Given the description of an element on the screen output the (x, y) to click on. 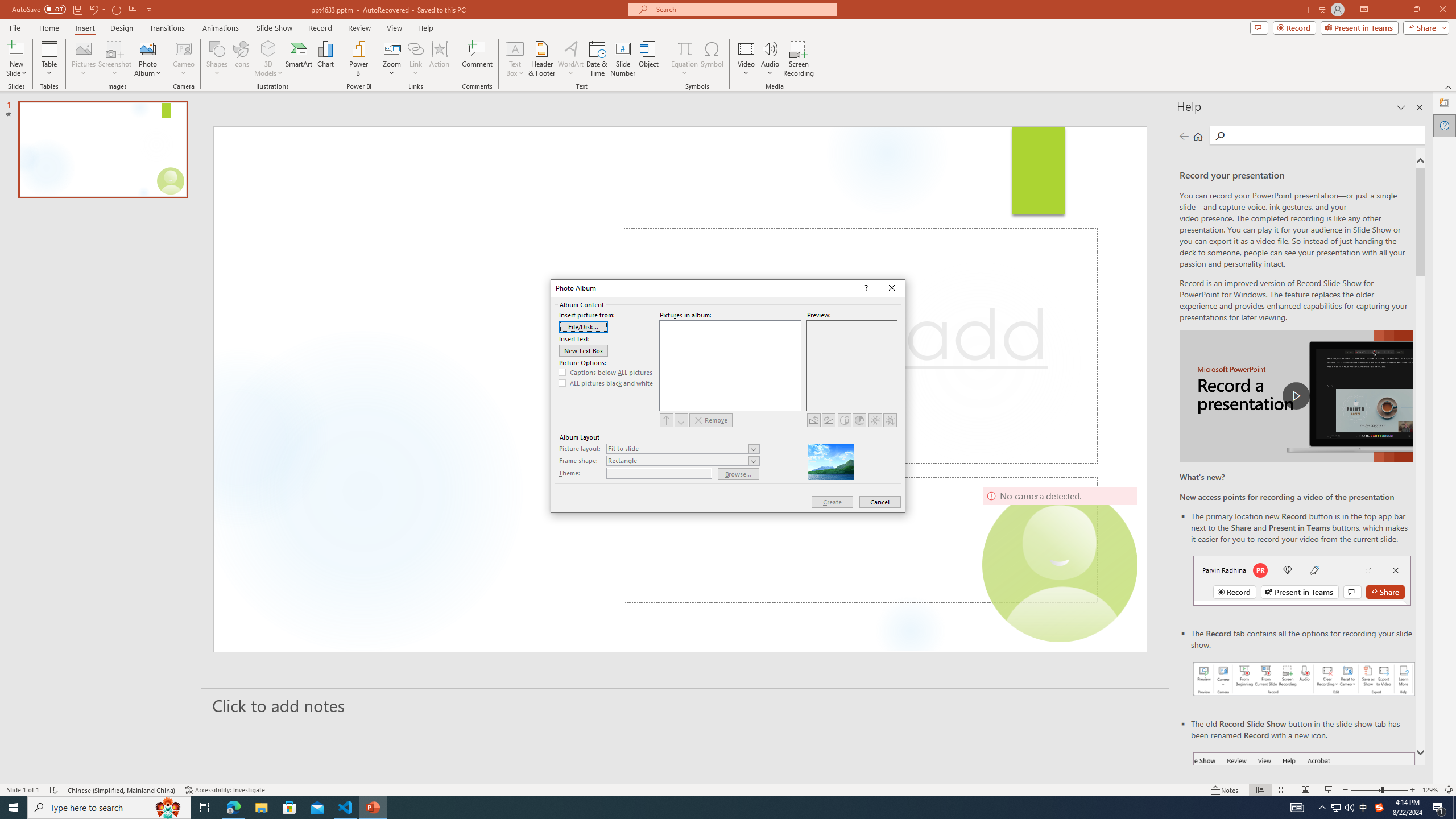
Q2790: 100% (1349, 807)
Microsoft search (742, 9)
Less Contrast (858, 419)
Create (831, 501)
3D Models (268, 48)
Equation (683, 48)
Notification Chevron (1322, 807)
Microsoft Edge - 1 running window (233, 807)
Text Box (515, 58)
